Given the description of an element on the screen output the (x, y) to click on. 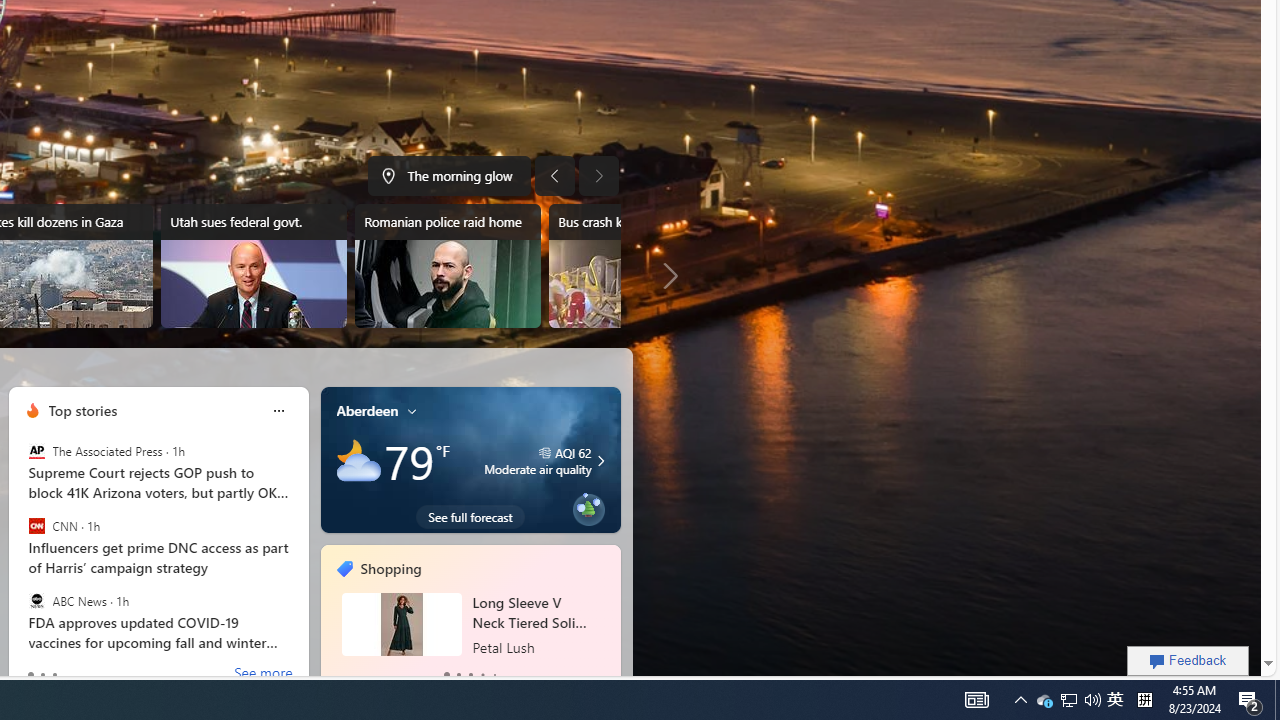
tab-1 (457, 674)
aqi-icon AQI 62 Moderate air quality (537, 460)
tab-4 (493, 674)
My location (411, 410)
tab-3 (482, 674)
Aberdeen (367, 410)
Previous image (553, 175)
tab-2 (470, 674)
